Given the description of an element on the screen output the (x, y) to click on. 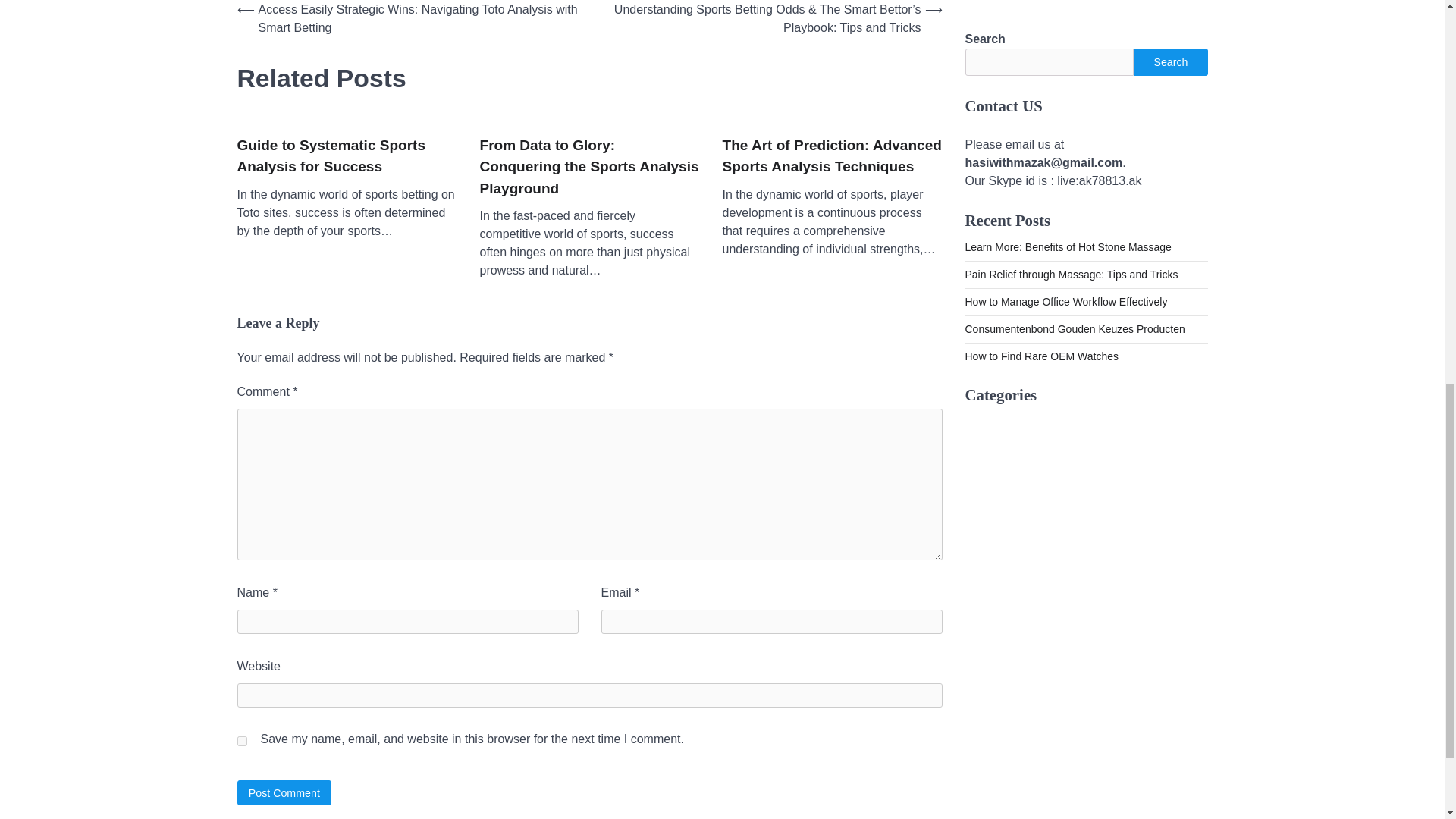
Post Comment (283, 792)
Guide to Systematic Sports Analysis for Success (346, 156)
yes (240, 741)
The Art of Prediction: Advanced Sports Analysis Techniques (832, 156)
Post Comment (283, 792)
